Given the description of an element on the screen output the (x, y) to click on. 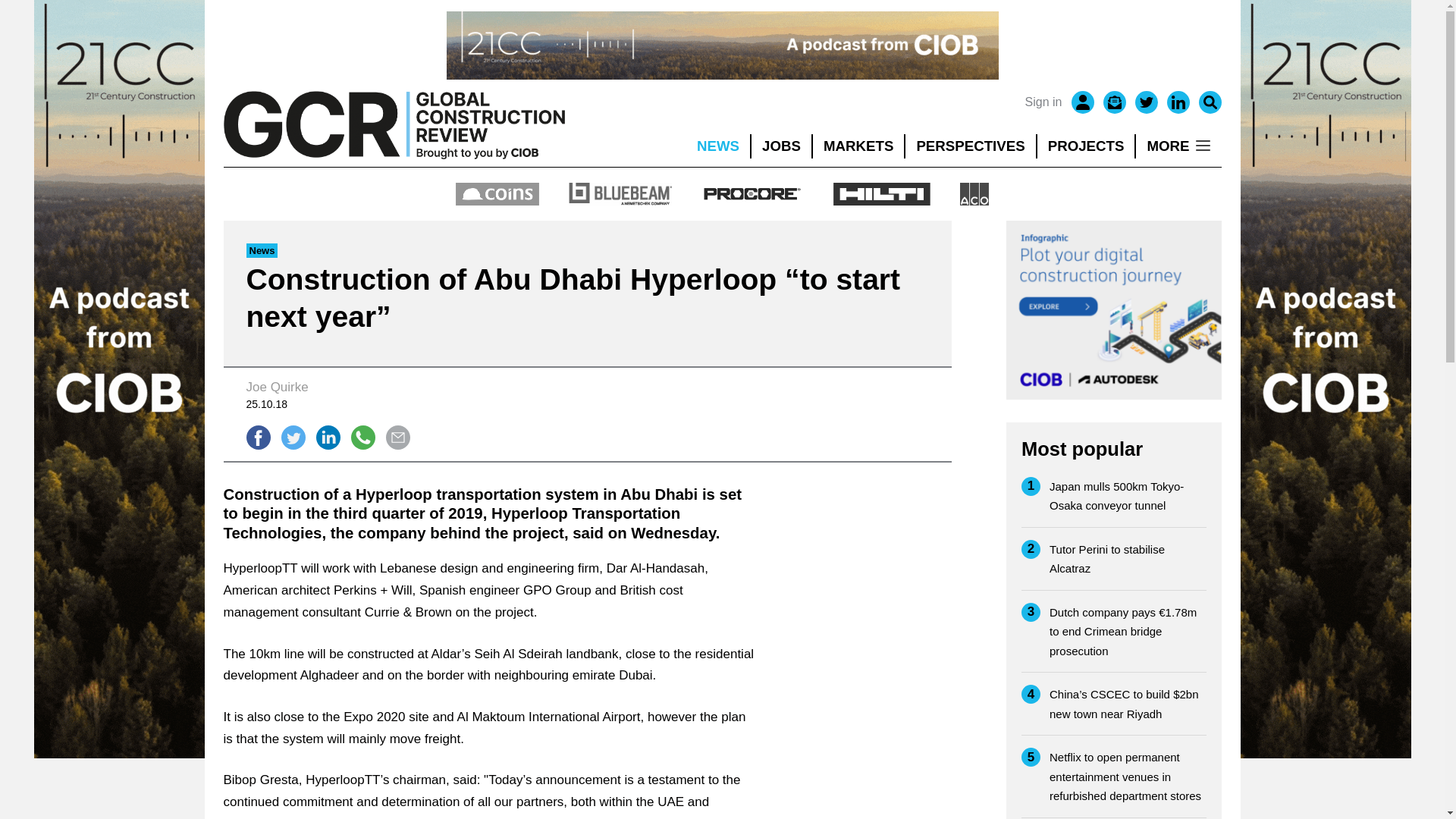
Sign in (1043, 102)
JOBS (780, 146)
Share on WhatsApp (362, 437)
NEWS (717, 146)
PROJECTS (1085, 146)
Send email (397, 437)
Share on Facebook (257, 437)
MARKETS (858, 146)
Tweet (292, 437)
MORE (1178, 146)
Share on LinkedIn (327, 437)
PERSPECTIVES (970, 146)
